Given the description of an element on the screen output the (x, y) to click on. 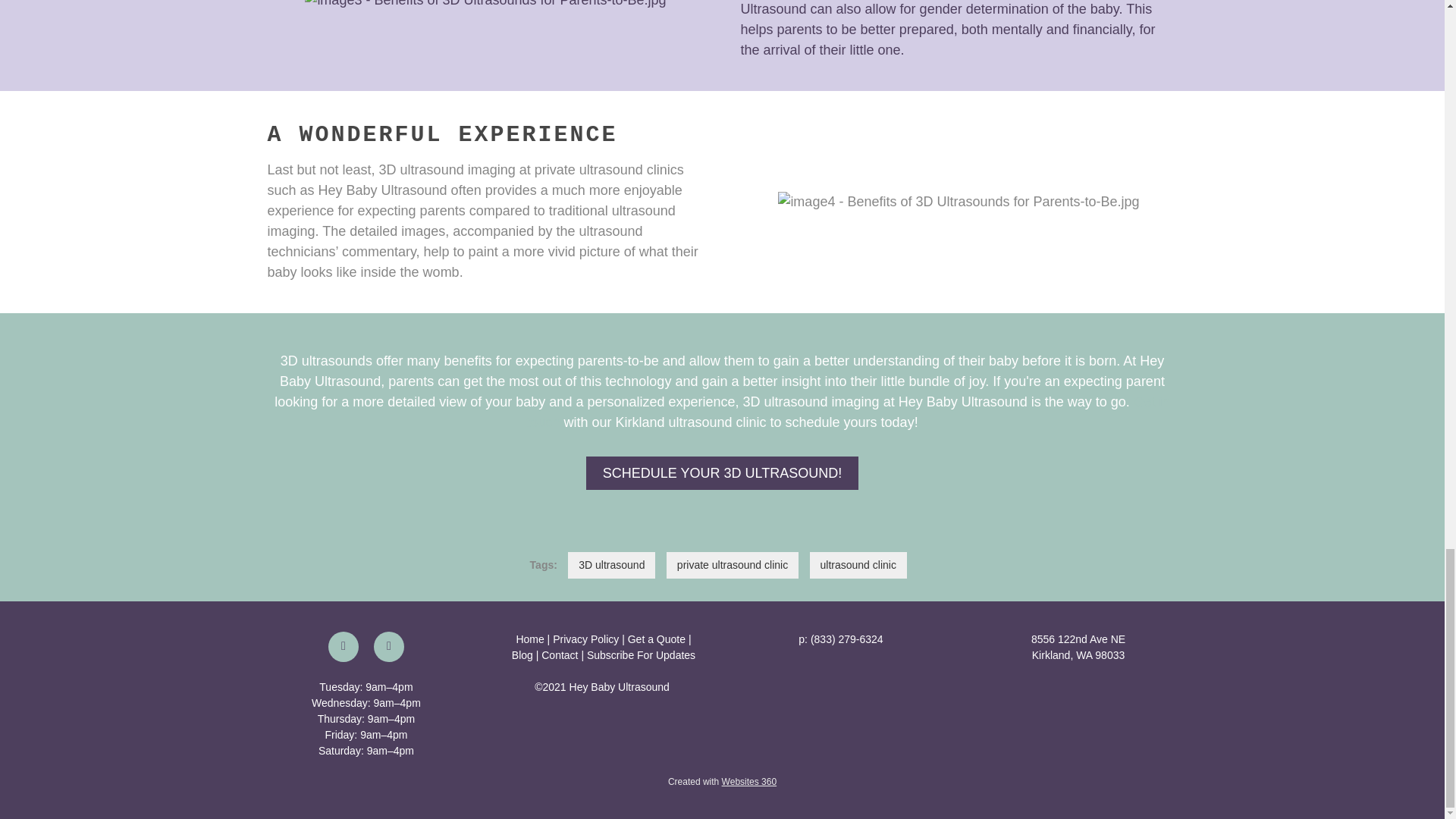
Get a Quote (656, 639)
Home (529, 639)
3D ultrasound (611, 565)
private ultrasound clinic (731, 565)
Subscribe For Updates (640, 654)
SCHEDULE YOUR 3D ULTRASOUND! (722, 472)
Get in touch (847, 411)
ultrasound clinic (858, 565)
Created with Websites 360 (722, 781)
Contact (559, 654)
